Given the description of an element on the screen output the (x, y) to click on. 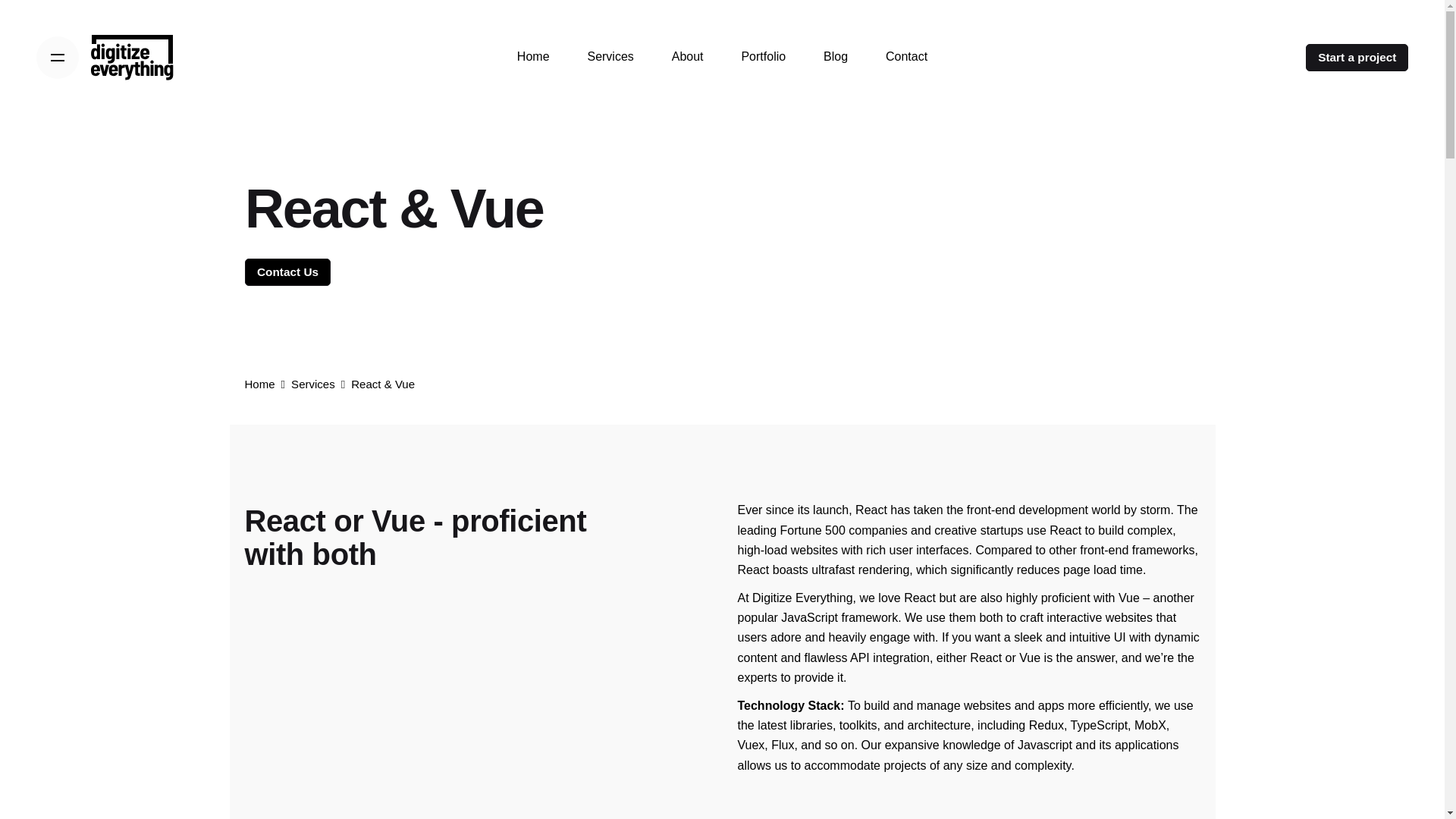
Start a project (1356, 57)
Blog (835, 57)
Contact (906, 57)
Contact Us (287, 271)
Services (312, 383)
Services (610, 57)
Home (259, 383)
About (687, 57)
Home (533, 57)
Portfolio (763, 57)
